Given the description of an element on the screen output the (x, y) to click on. 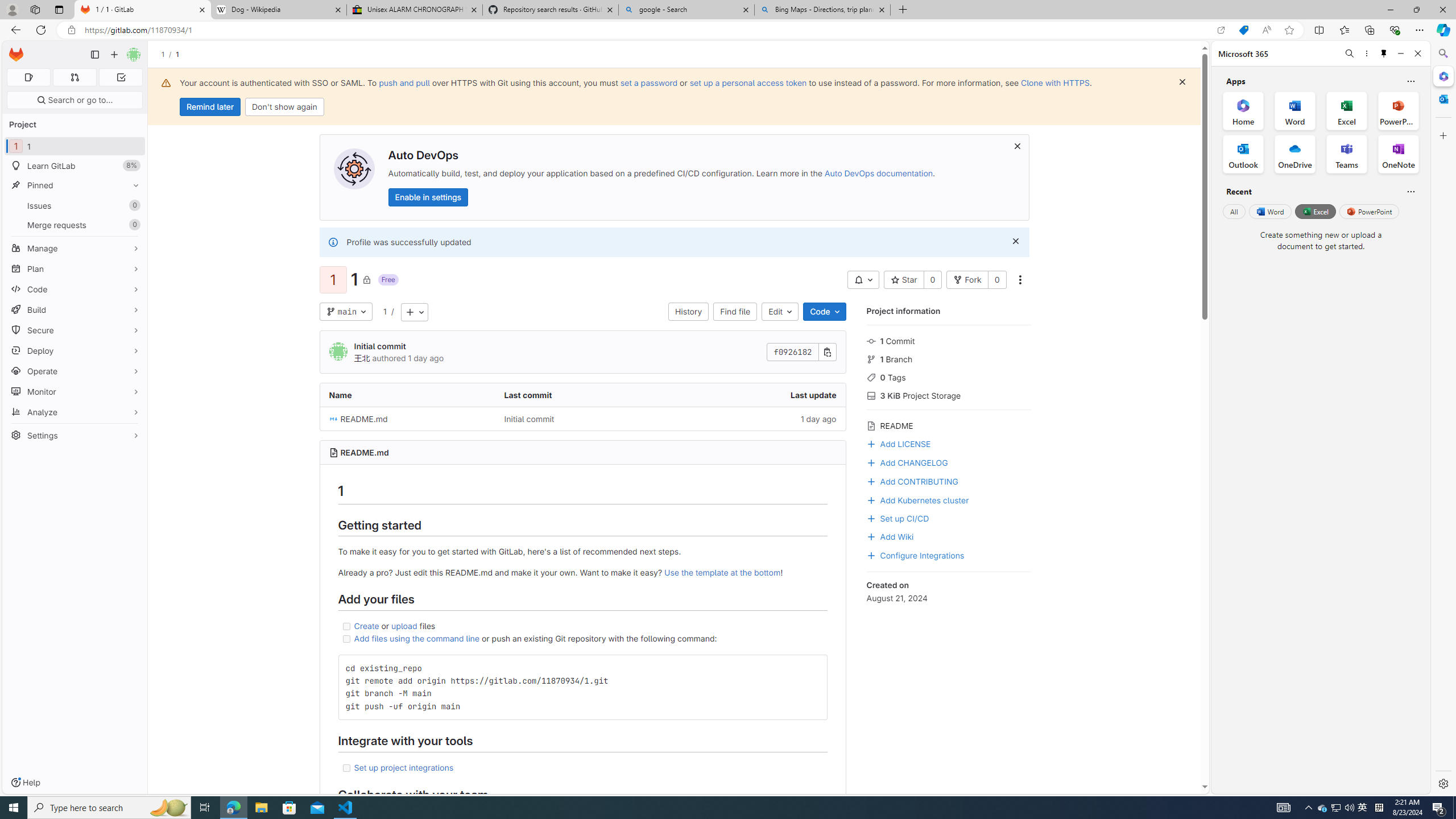
Code (74, 289)
 Star (903, 280)
Set up project integrations (582, 767)
Auto DevOps documentation (878, 172)
Close (1417, 53)
Browser essentials (1394, 29)
set a password (649, 82)
More actions (1019, 280)
New Tab (903, 9)
Read aloud this page (Ctrl+Shift+U) (1266, 29)
Add to tree (414, 312)
Back (13, 29)
1 Branch (948, 358)
Class: s16 position-relative file-icon (333, 419)
